Given the description of an element on the screen output the (x, y) to click on. 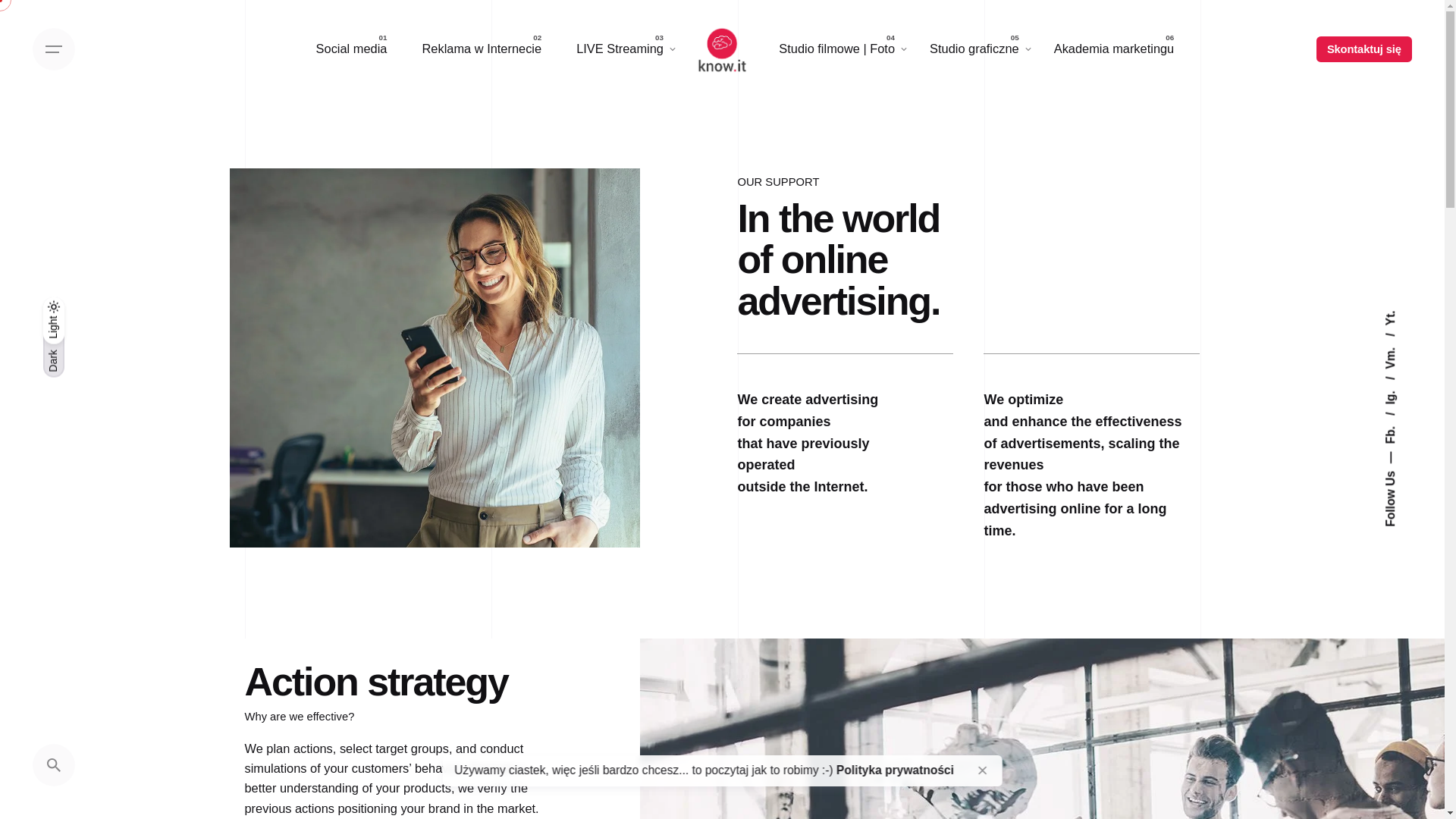
Akademia marketingu (1114, 49)
Yt. (1390, 316)
Reklama w Internecie (481, 49)
Ig. (1396, 382)
Social media (351, 49)
Vm. (1400, 338)
LIVE Streaming (620, 49)
Fb. (1399, 418)
Studio graficzne (974, 49)
